Given the description of an element on the screen output the (x, y) to click on. 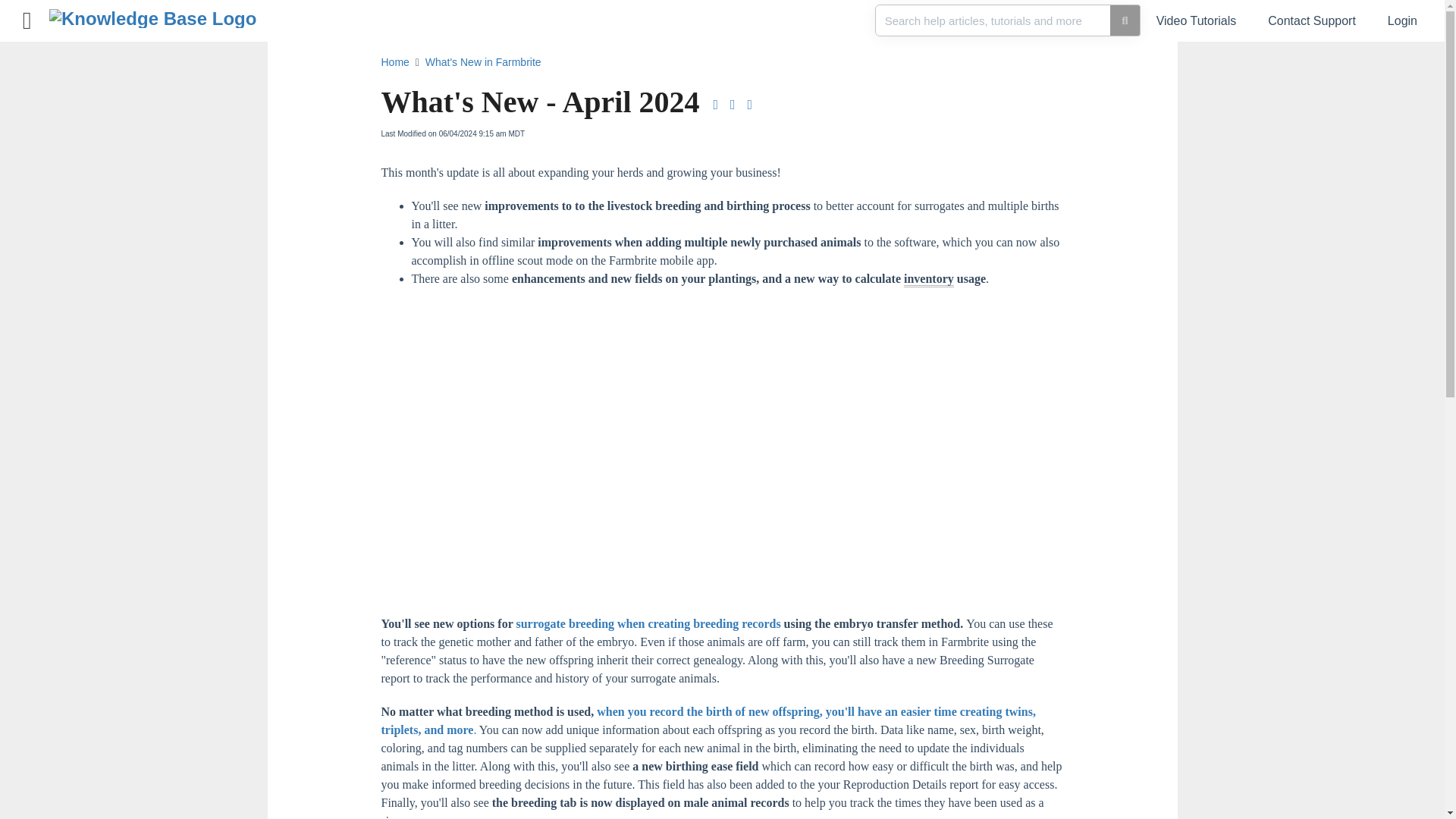
Download PDF (714, 104)
Farmbrite (158, 13)
What's New in Farmbrite (484, 62)
Tracking Livestock Breeding (647, 623)
